Given the description of an element on the screen output the (x, y) to click on. 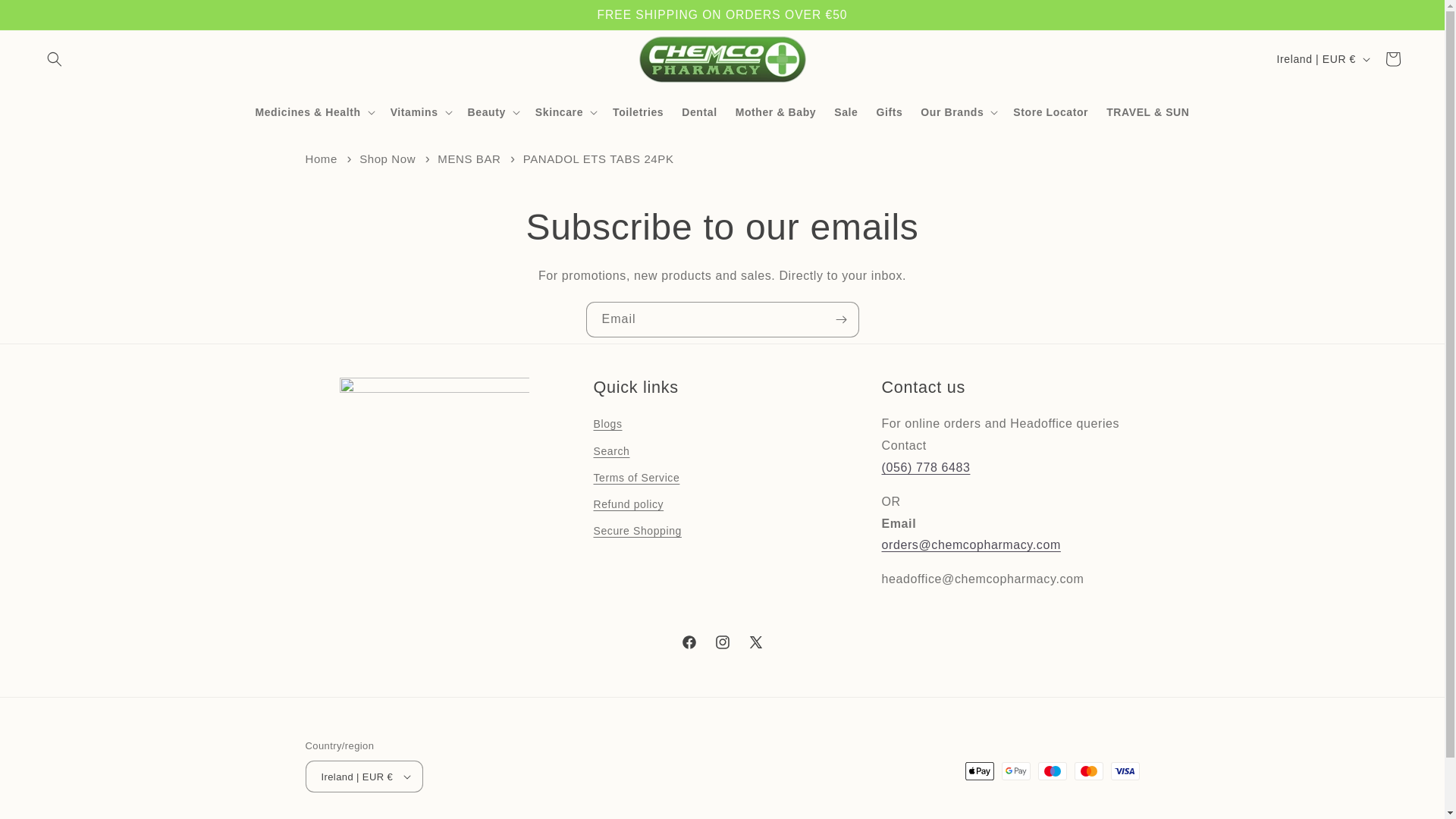
Shop Now (386, 158)
MENS BAR (469, 158)
Home (320, 158)
Skip to content (45, 17)
